Given the description of an element on the screen output the (x, y) to click on. 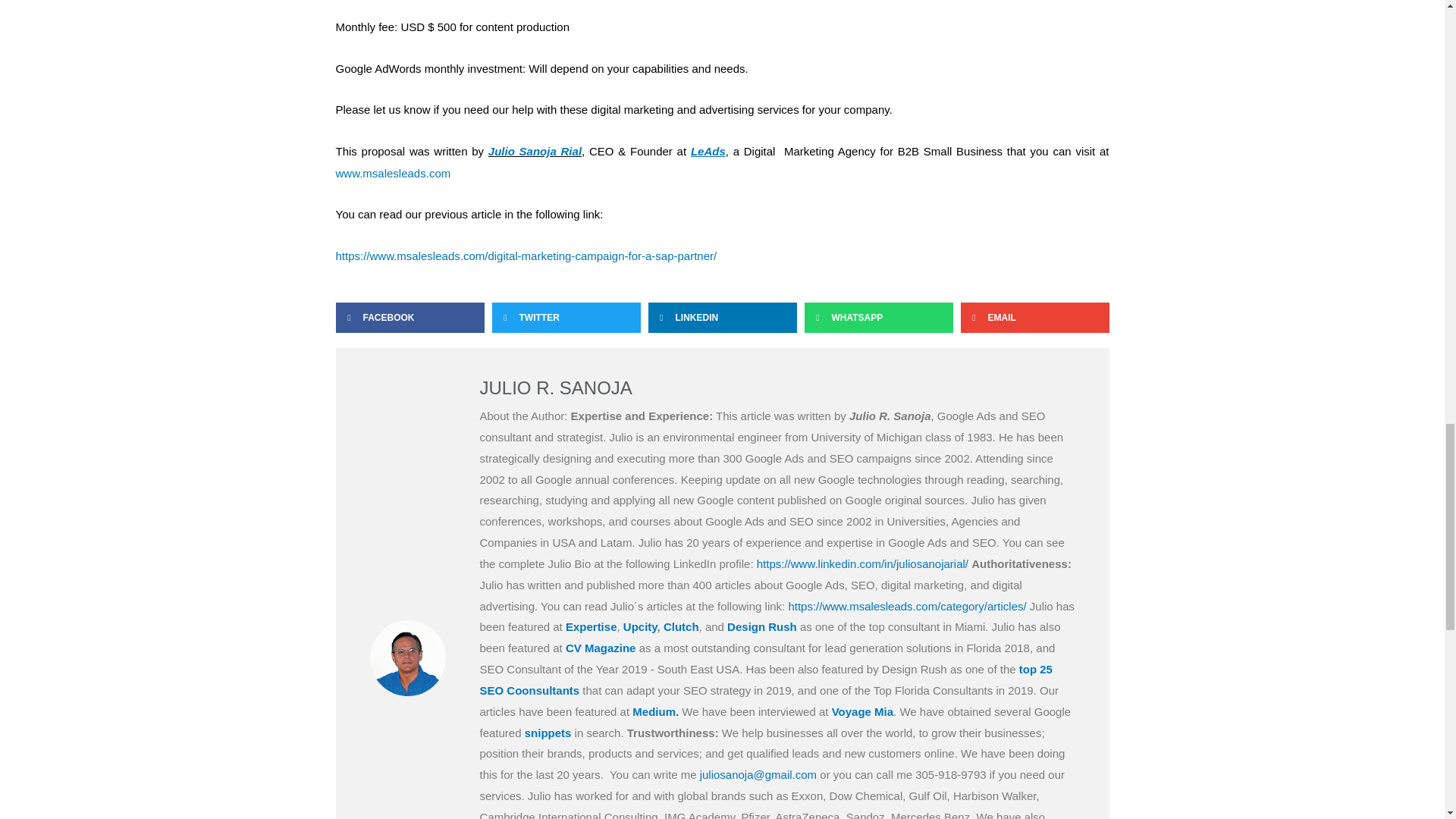
Julio Sanoja Rial (533, 151)
Medium. (654, 711)
Design Rush (761, 626)
top 25 SEO Coonsultants (765, 679)
Expertise (591, 626)
Upcity (640, 626)
CV Magazine (601, 647)
Clutch (680, 626)
www.msalesleads.com (391, 173)
Voyage Mia (862, 711)
JULIO R. SANOJA (776, 388)
LeAds (707, 151)
snippets (548, 732)
